Given the description of an element on the screen output the (x, y) to click on. 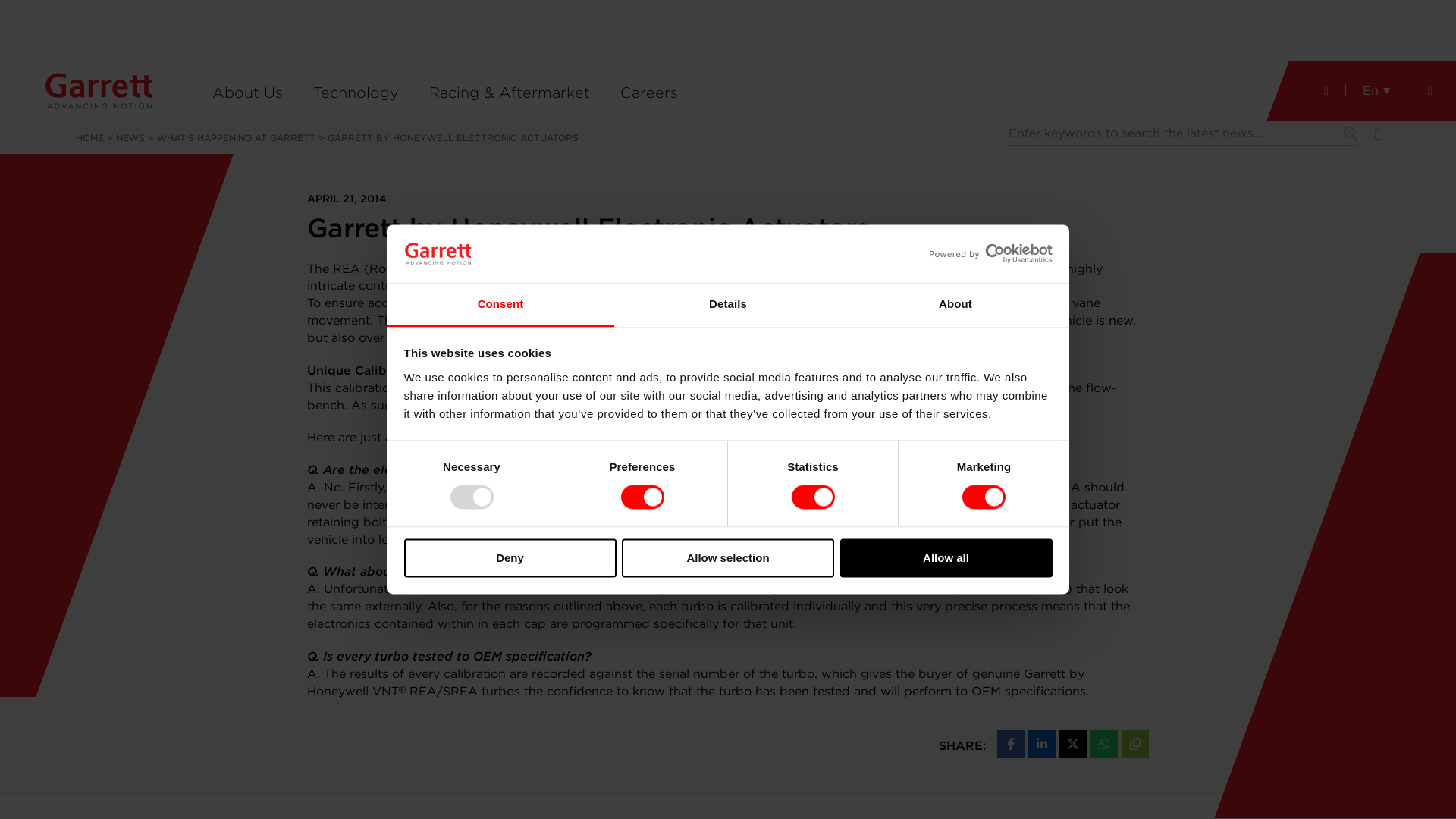
Details (727, 304)
About (954, 304)
Search (1349, 133)
Consent (500, 304)
